Given the description of an element on the screen output the (x, y) to click on. 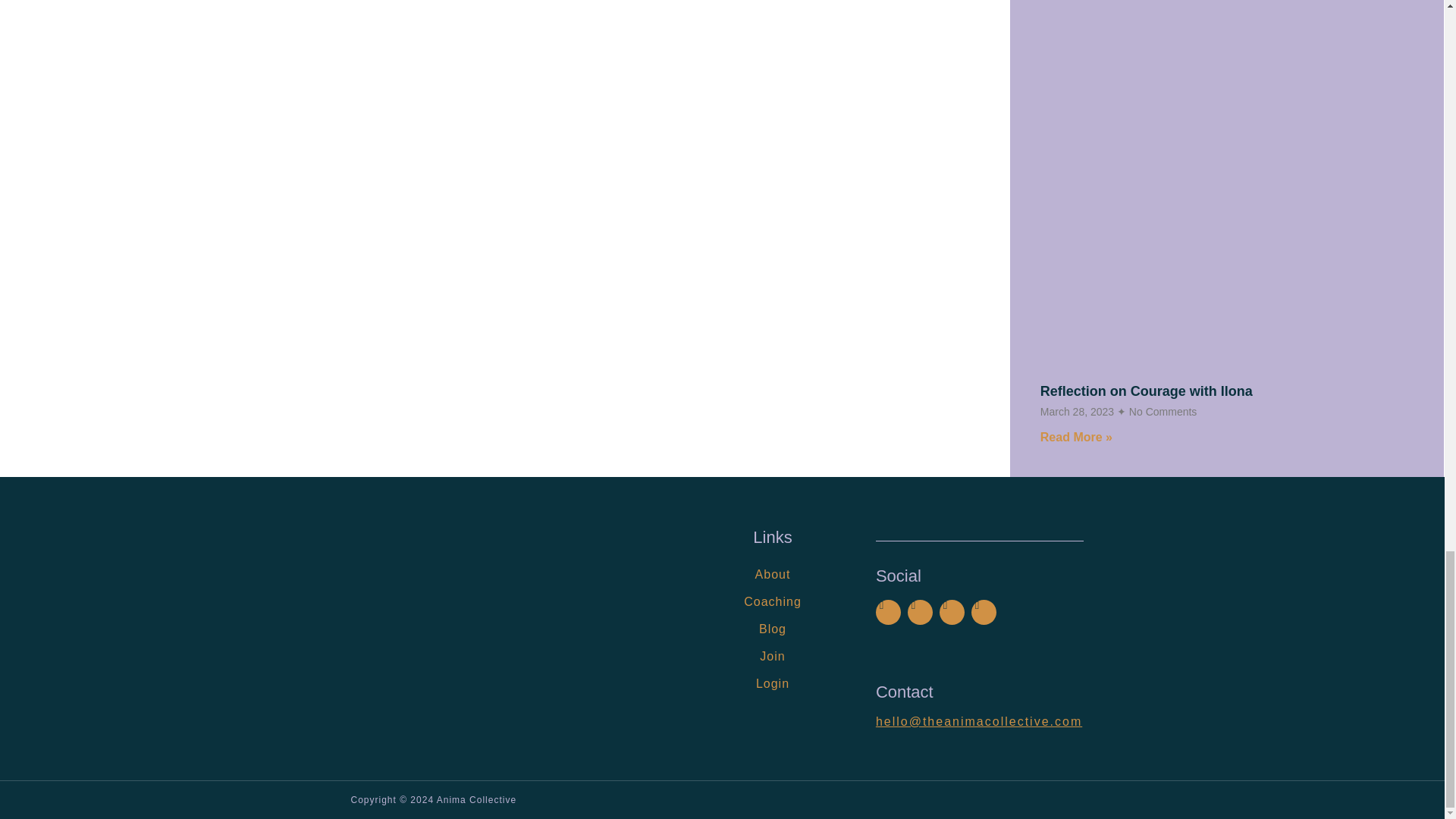
Blog (772, 628)
Coaching (772, 601)
About (772, 574)
Reflection on Courage with Ilona (1146, 391)
Join (772, 656)
